Given the description of an element on the screen output the (x, y) to click on. 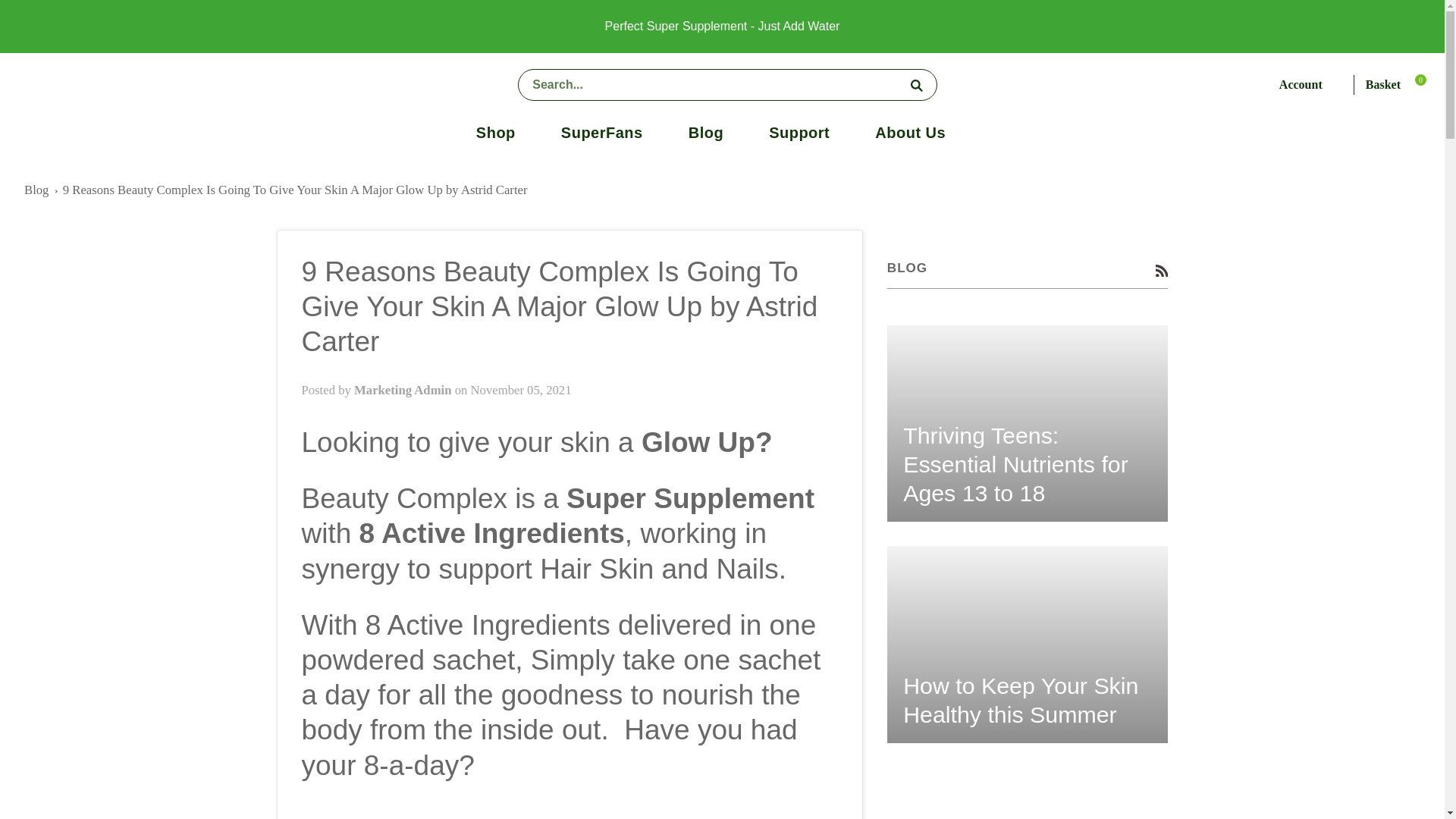
Basket (1393, 83)
Account (1310, 83)
Shop (495, 132)
